Given the description of an element on the screen output the (x, y) to click on. 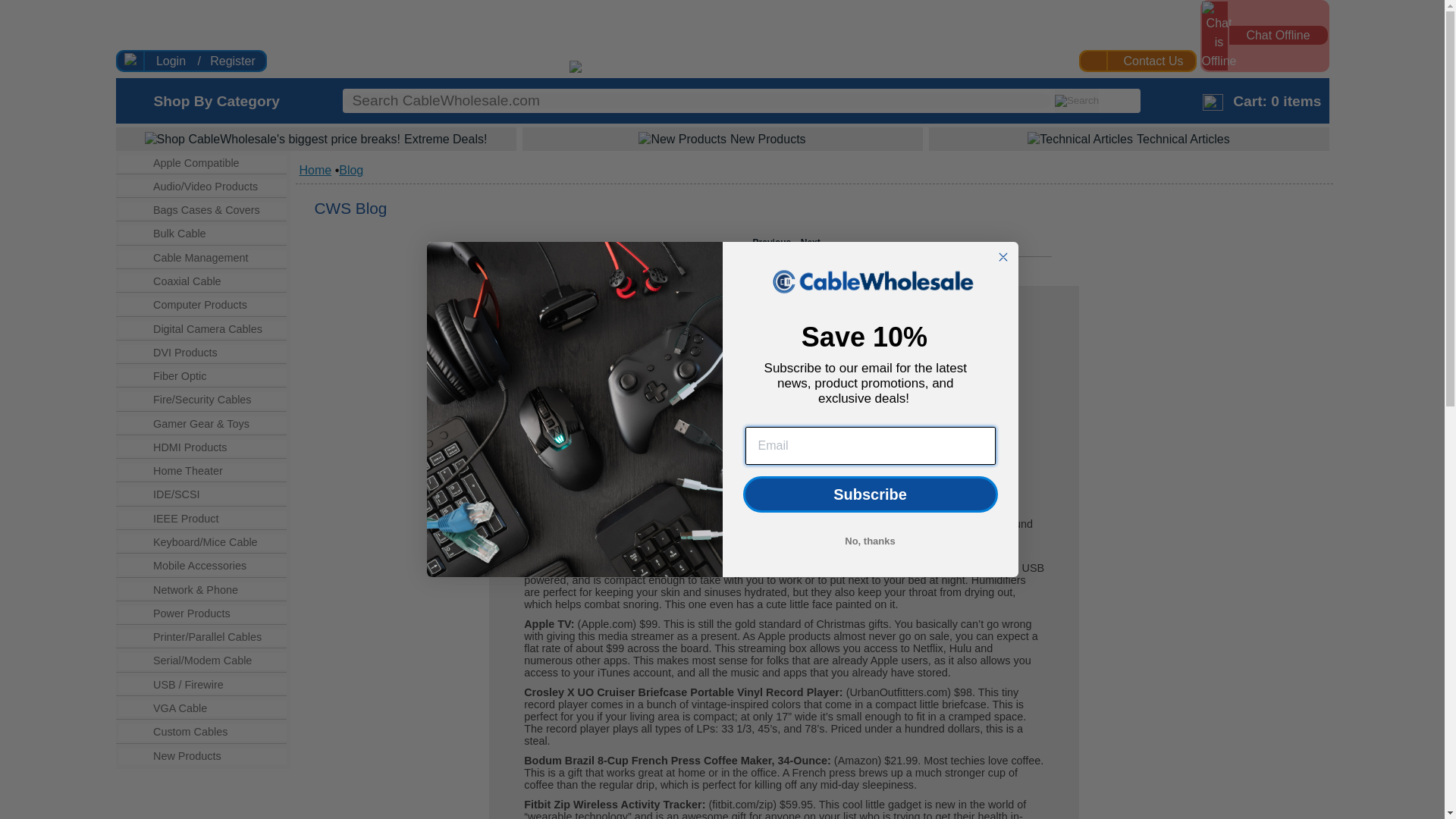
Shop By Category (215, 100)
Search text box (697, 100)
 Login  (170, 60)
Contact Us (1153, 60)
Apple Compatible (213, 163)
Mobile Accessories (213, 565)
Register (232, 60)
Extreme Deals! (315, 138)
Search Submit Button (1076, 100)
 Register  (232, 60)
Computer Products (213, 304)
Shop the most extreme sales CableWholesale has to offer (315, 138)
Custom Cables (213, 731)
Coaxial Cable (213, 281)
Load home page. (672, 67)
